Given the description of an element on the screen output the (x, y) to click on. 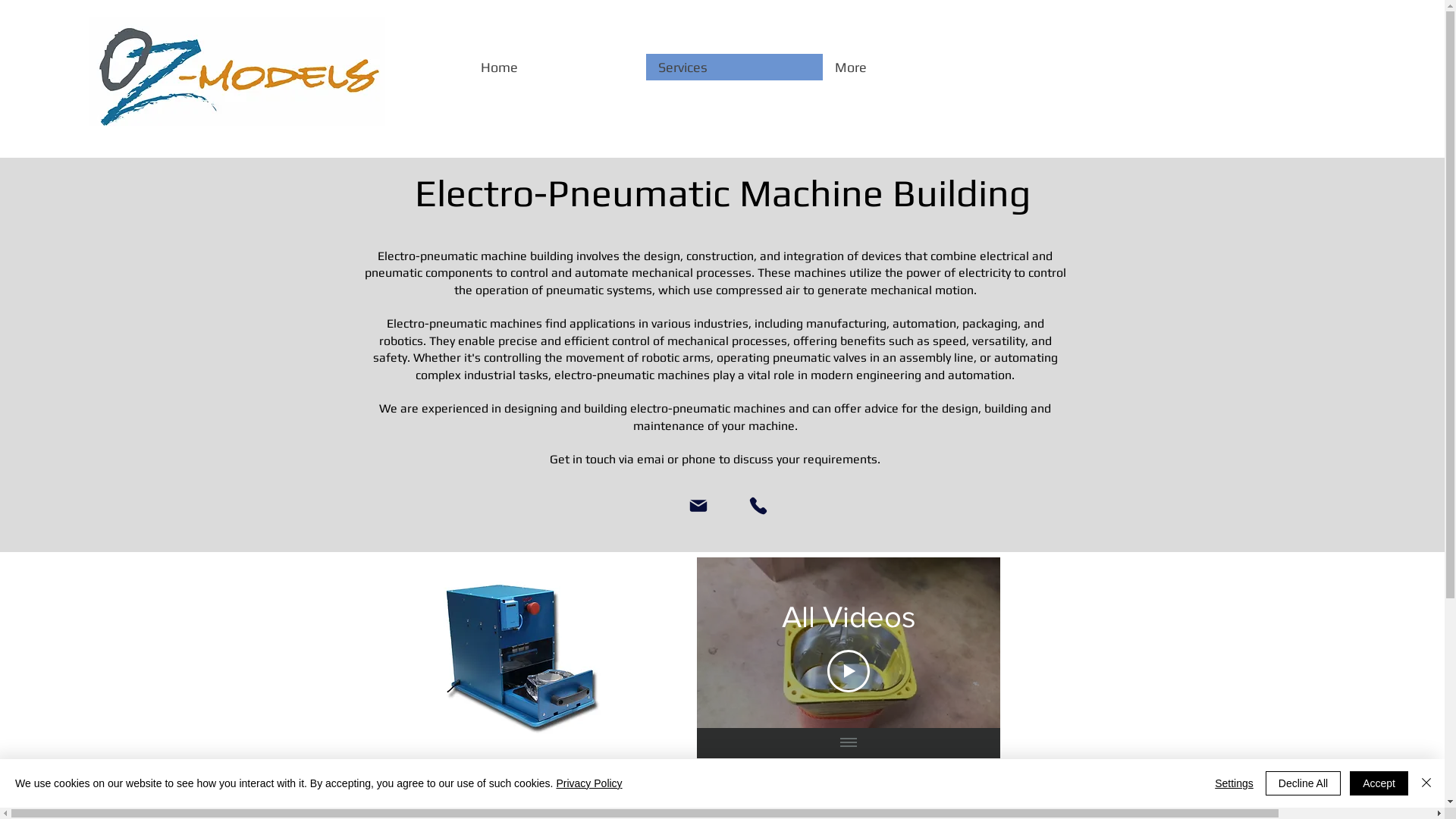
Decline All Element type: text (1302, 783)
Accept Element type: text (1378, 783)
Electro-Pneumatic Machine Building Element type: text (721, 192)
Home Element type: text (556, 66)
Services Element type: text (734, 66)
Privacy Policy Element type: text (588, 783)
